Given the description of an element on the screen output the (x, y) to click on. 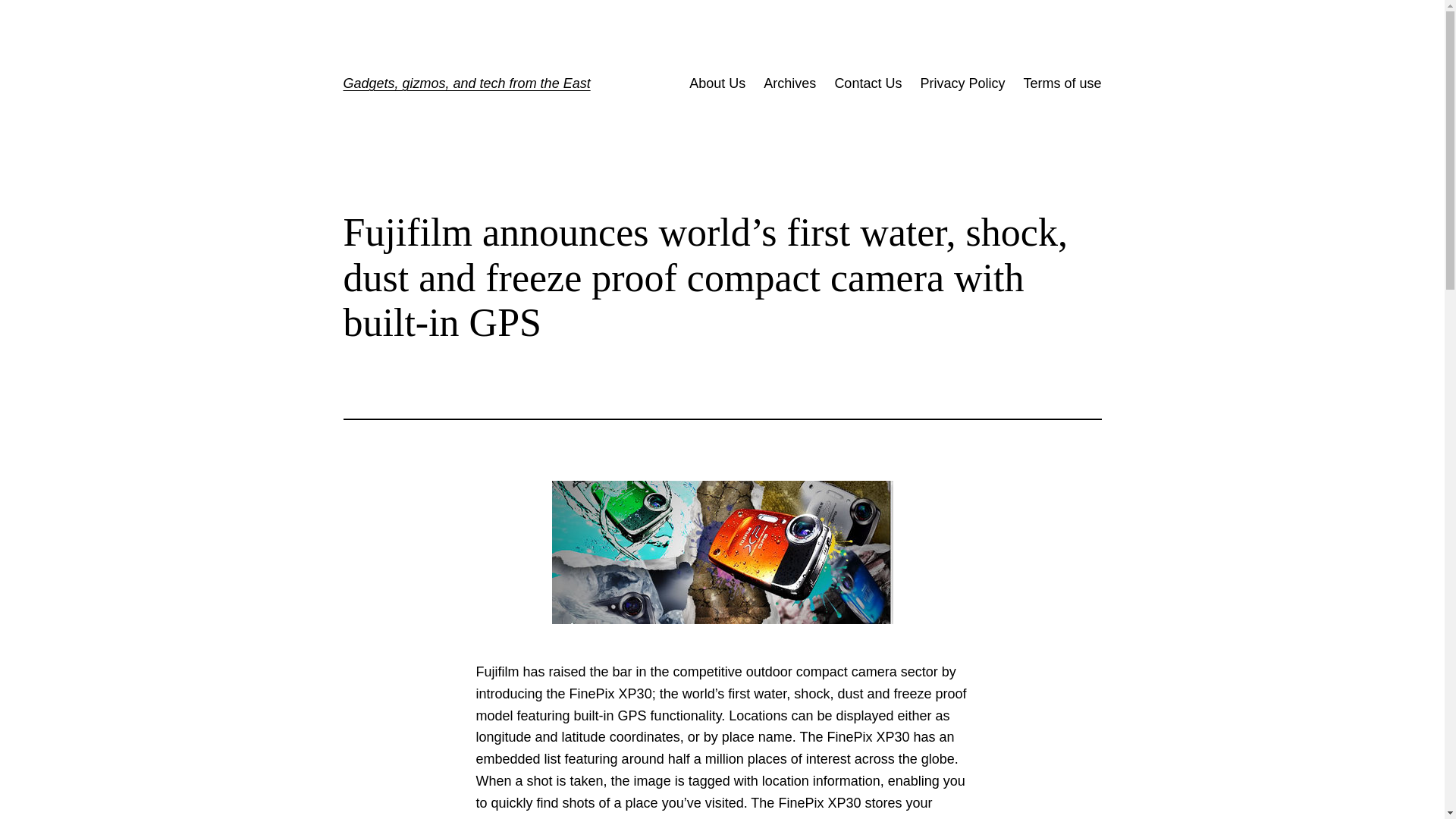
Terms of use (1061, 83)
Contact Us (867, 83)
Privacy Policy (962, 83)
About Us (716, 83)
Gadgets, gizmos, and tech from the East (465, 83)
Archives (788, 83)
